Given the description of an element on the screen output the (x, y) to click on. 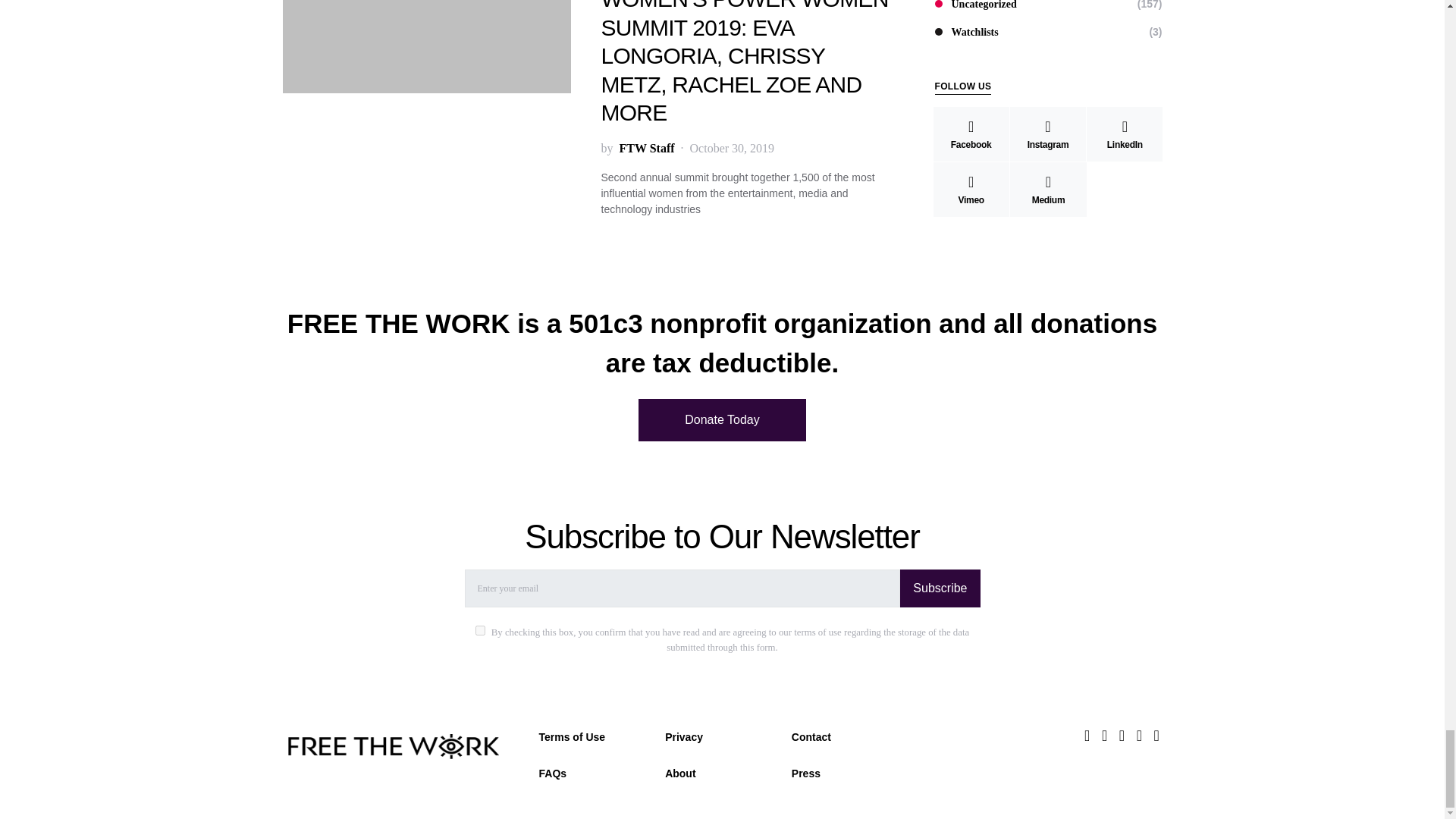
View all posts by FTW Staff (646, 148)
on (480, 630)
